Given the description of an element on the screen output the (x, y) to click on. 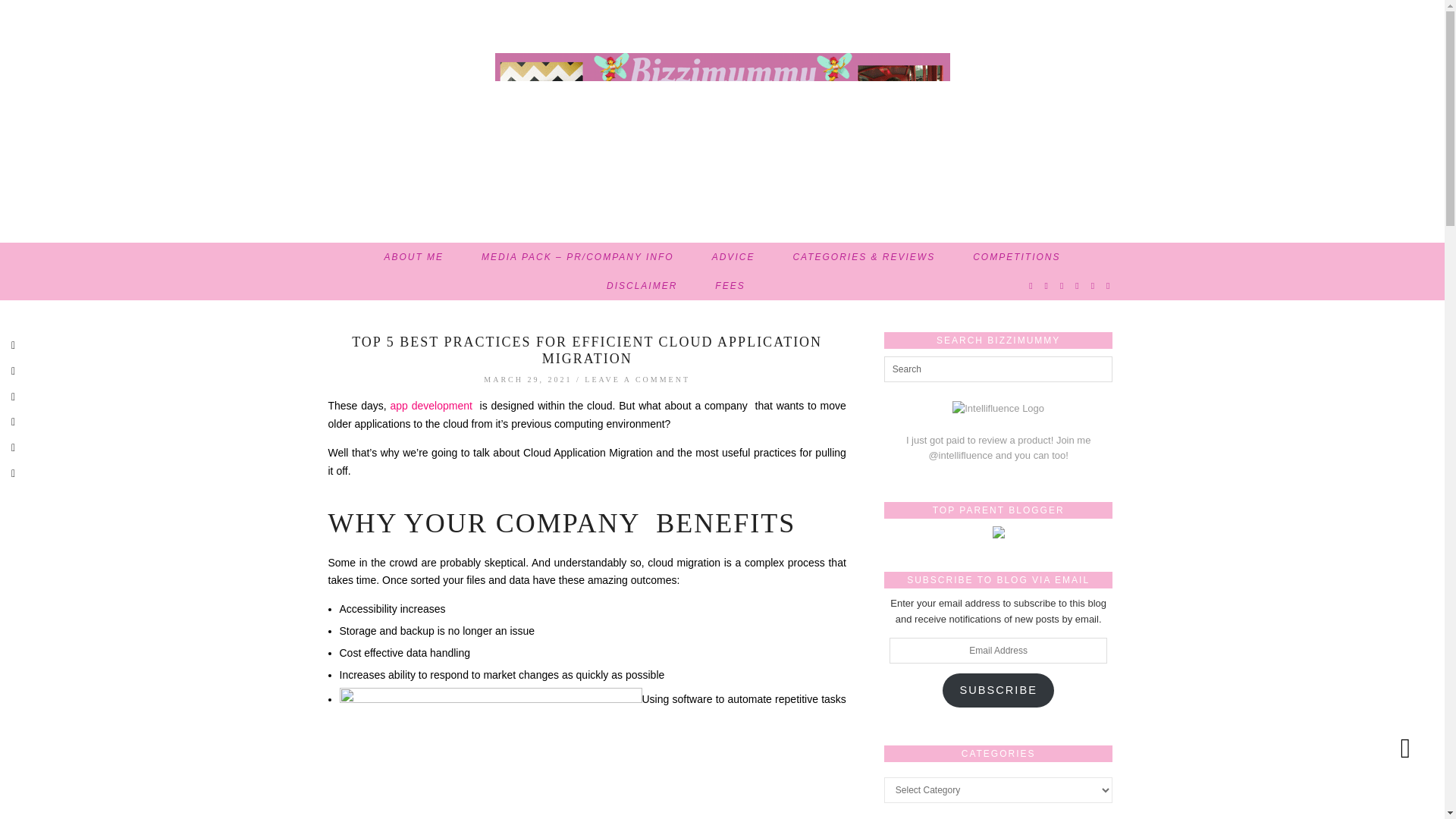
ABOUT ME (414, 256)
FEES (728, 285)
LEAVE A COMMENT (637, 379)
ADVICE (733, 256)
DISCLAIMER (641, 285)
app development (430, 405)
COMPETITIONS (1015, 256)
